Given the description of an element on the screen output the (x, y) to click on. 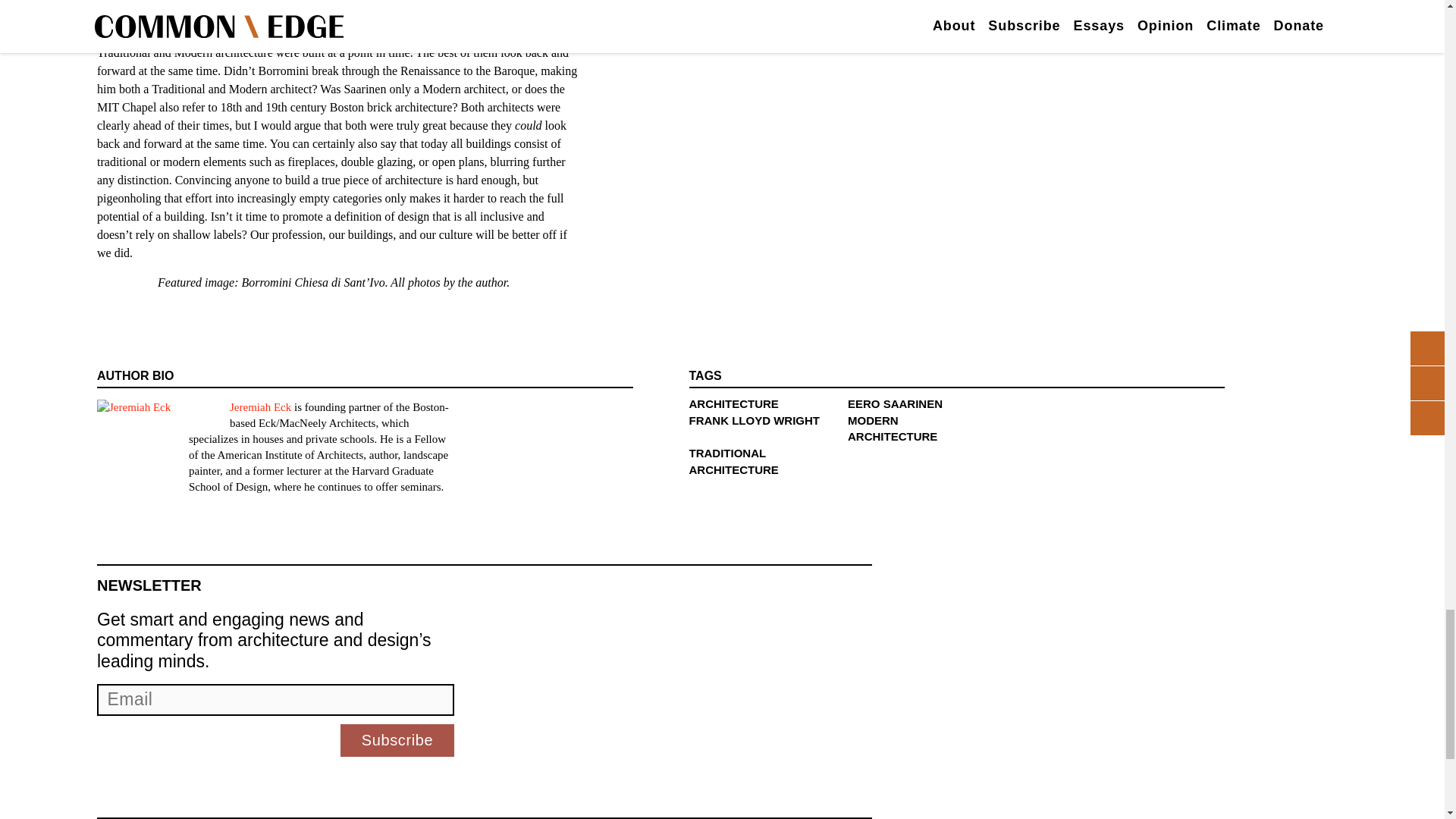
FRANK LLOYD WRIGHT (753, 420)
TRADITIONAL ARCHITECTURE (732, 460)
ARCHITECTURE (732, 403)
Jeremiah Eck (260, 407)
Subscribe (397, 739)
Subscribe (397, 739)
EERO SAARINEN (894, 403)
MODERN ARCHITECTURE (892, 428)
